Given the description of an element on the screen output the (x, y) to click on. 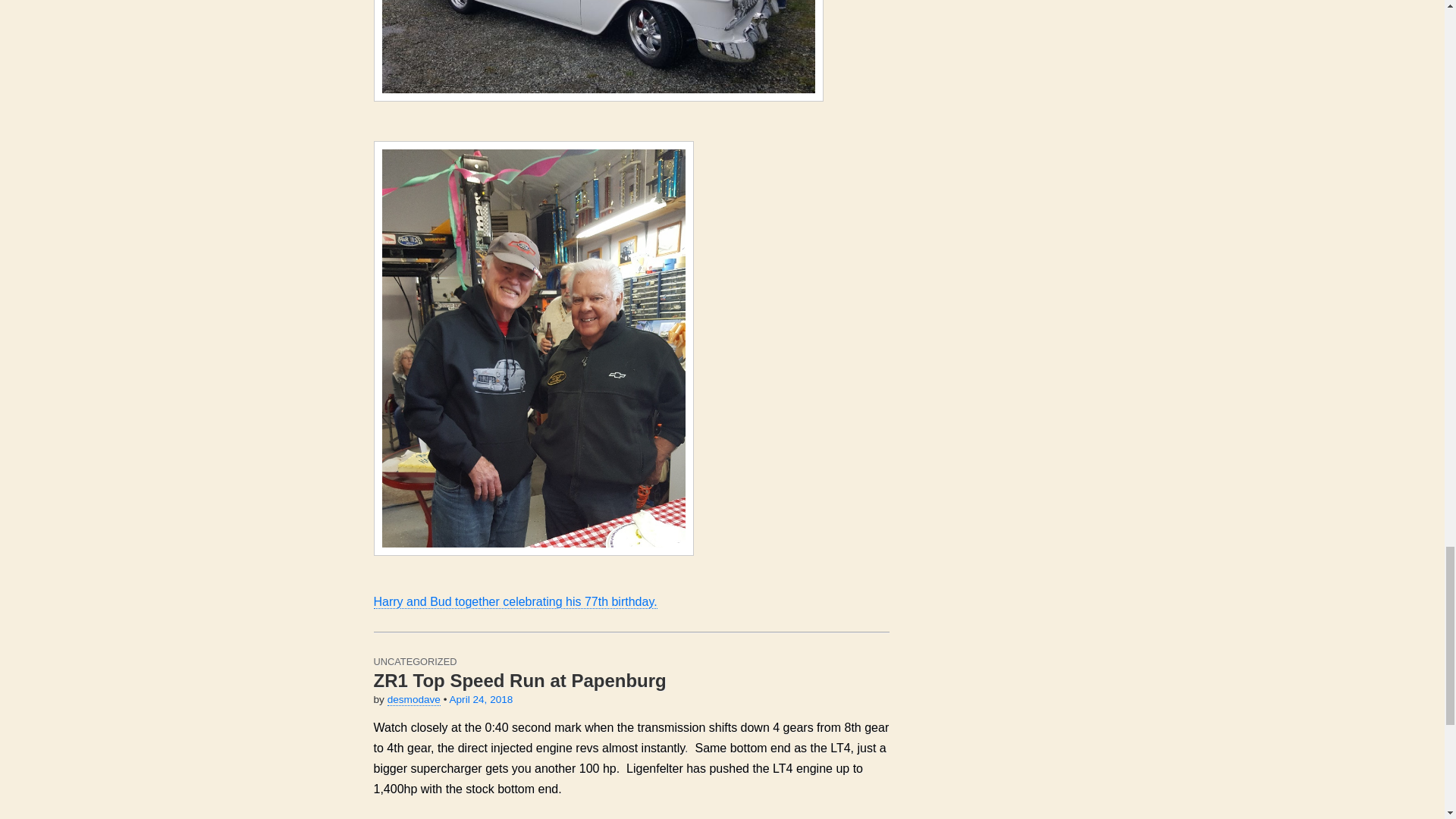
desmodave (414, 699)
Posts by desmodave (414, 699)
2019 Corvette ZR1 Top Speed Test (630, 815)
UNCATEGORIZED (414, 661)
ZR1 Top Speed Run at Papenburg (518, 680)
April 24, 2018 (480, 699)
